Given the description of an element on the screen output the (x, y) to click on. 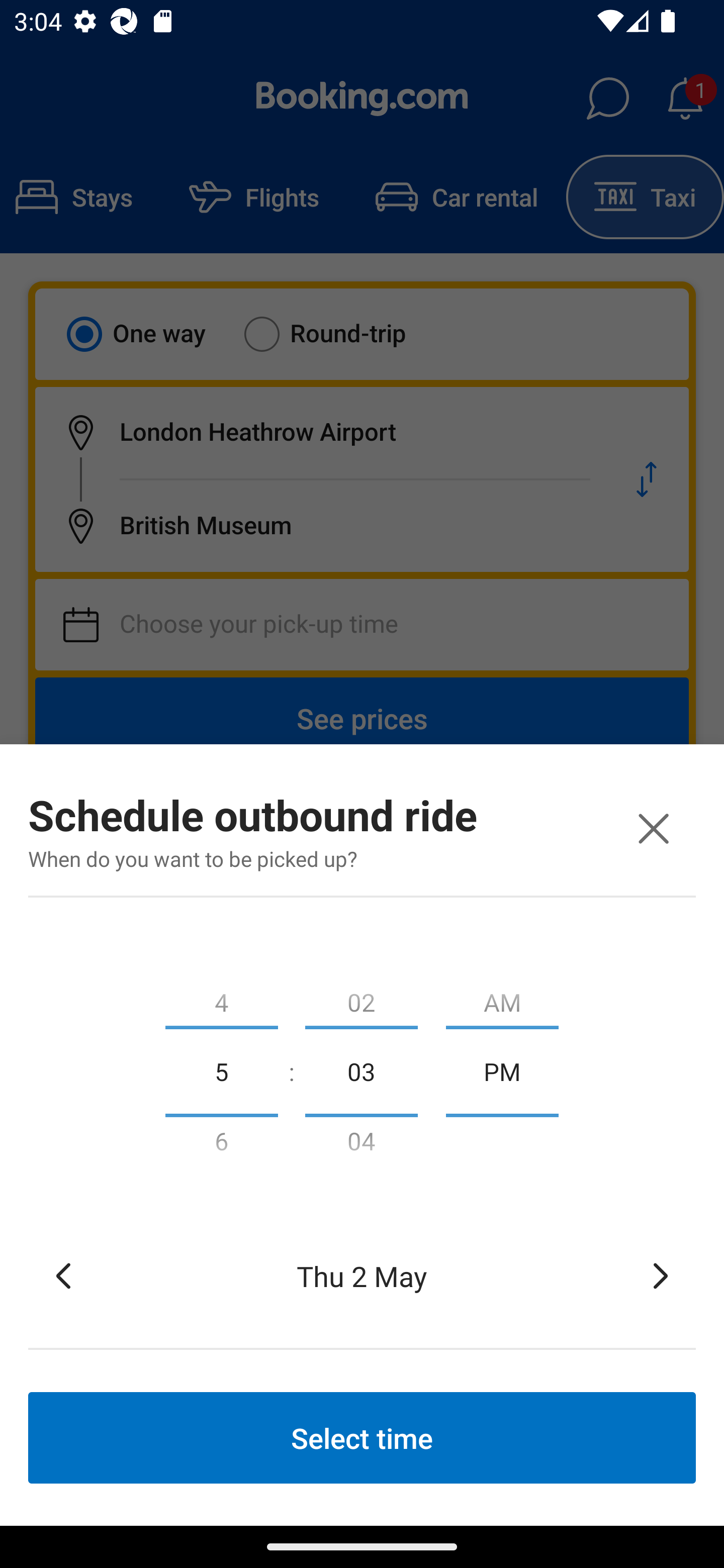
Close window (653, 828)
4 (221, 997)
02 (361, 997)
AM (501, 997)
5 (221, 1070)
03 (361, 1070)
PM (501, 1070)
6 (221, 1144)
04 (361, 1144)
Tap to move back to the previous date (63, 1275)
Tap to move forward to the next date (660, 1275)
Thu 2 May Selected date, Thursday, 2 May (361, 1275)
Select time (361, 1437)
